Given the description of an element on the screen output the (x, y) to click on. 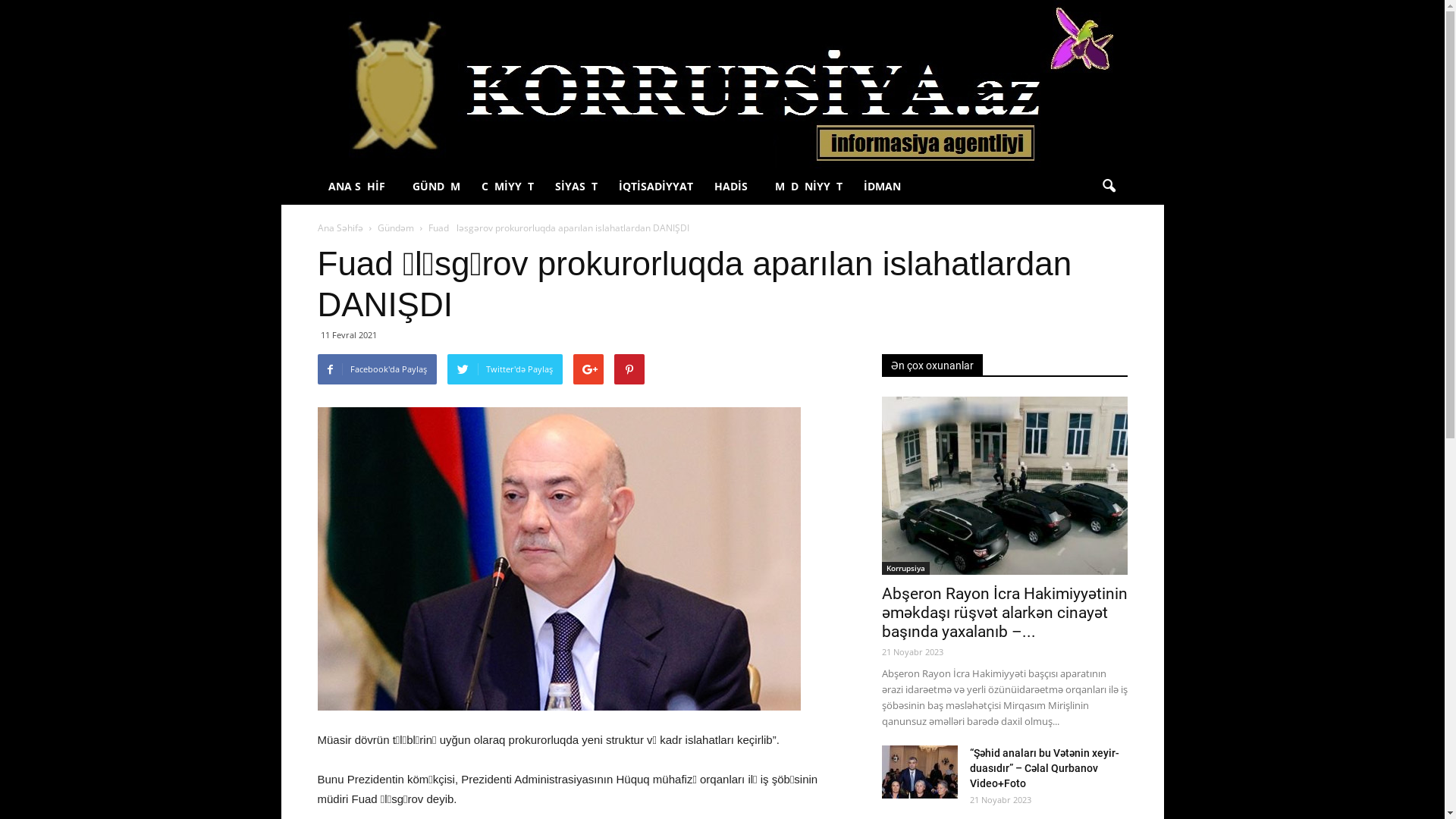
Korrupsiya Element type: text (904, 567)
1575035619 Element type: hover (558, 558)
